Given the description of an element on the screen output the (x, y) to click on. 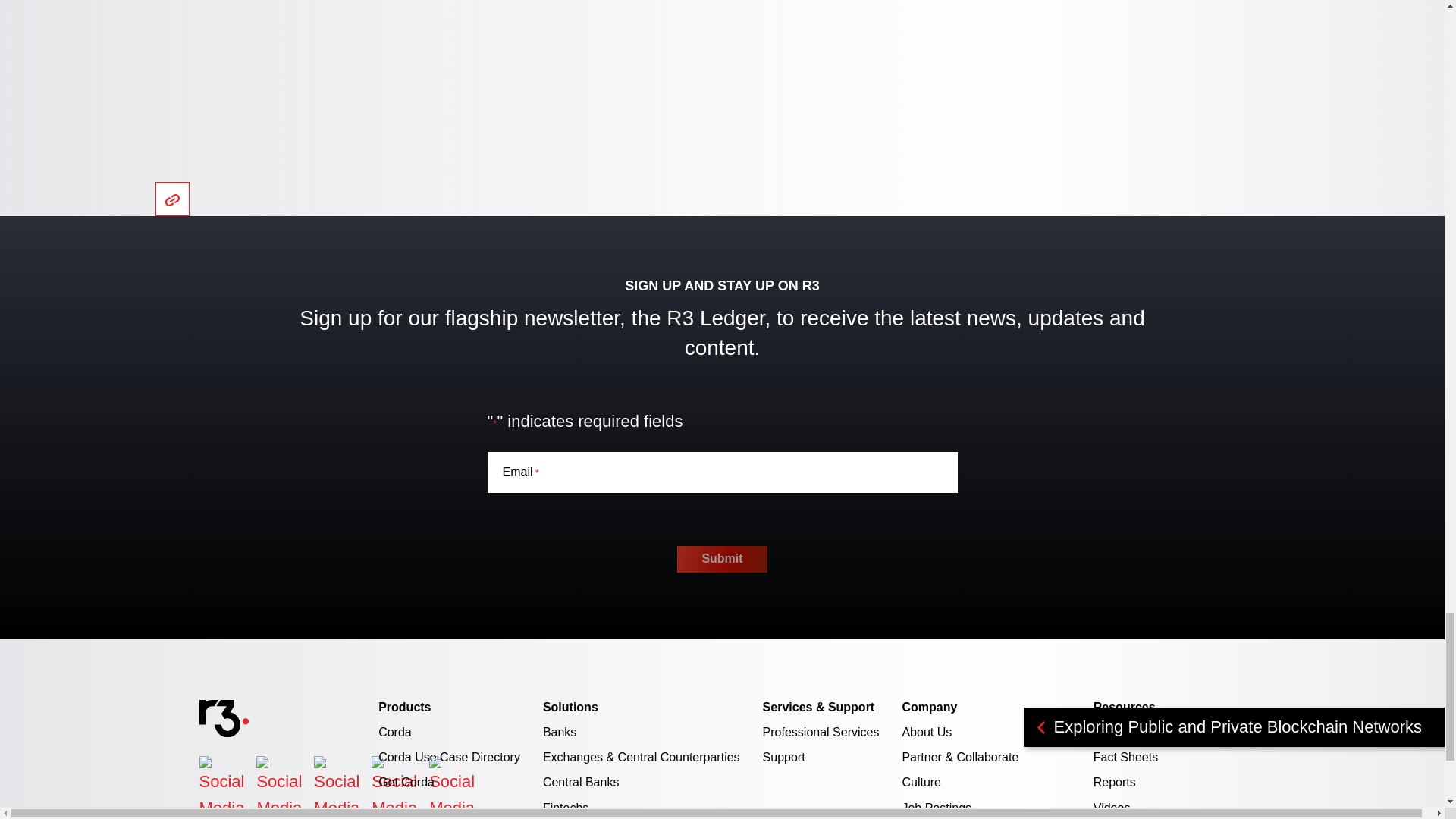
Submit (722, 559)
